Given the description of an element on the screen output the (x, y) to click on. 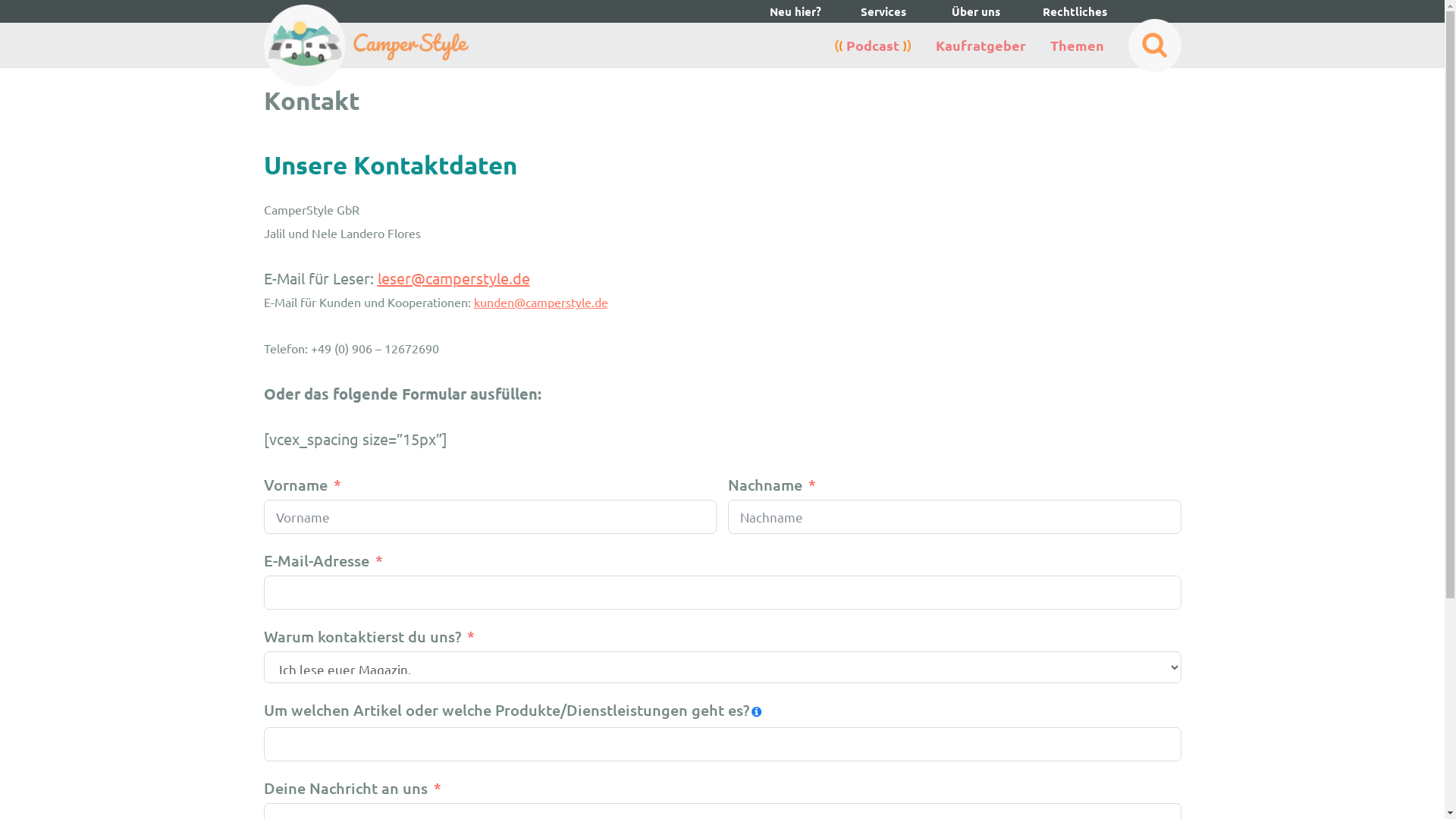
Kaufratgeber Element type: text (980, 45)
Themen Element type: text (1076, 45)
leser@camperstyle.de Element type: text (453, 277)
Rechtliches Element type: text (1065, 11)
Podcast Element type: text (872, 44)
kunden@camperstyle.de Element type: text (540, 301)
Neu hier? Element type: text (803, 11)
Services Element type: text (883, 11)
